Given the description of an element on the screen output the (x, y) to click on. 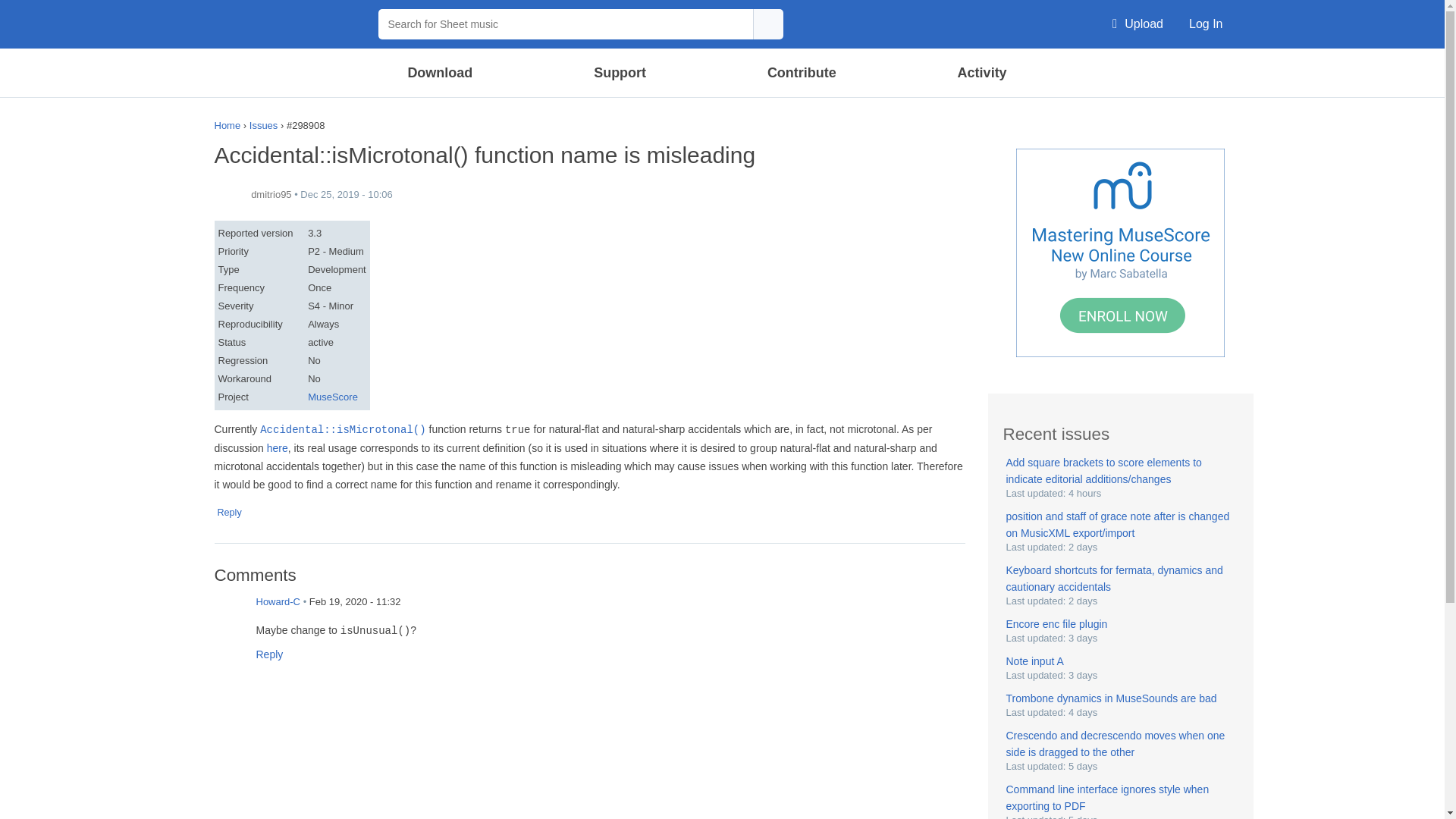
MuseScore (287, 23)
Log In (1205, 24)
Search (767, 24)
Upload (1137, 24)
Search (1082, 71)
Contribute (801, 72)
Support (619, 72)
Activity (981, 72)
Howard-C (229, 612)
